Given the description of an element on the screen output the (x, y) to click on. 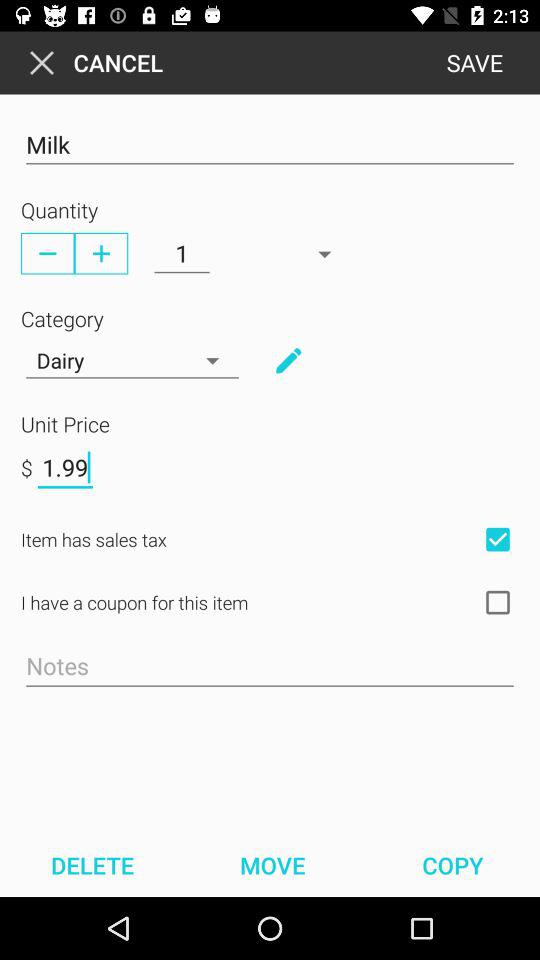
minus sign icon (47, 253)
